Given the description of an element on the screen output the (x, y) to click on. 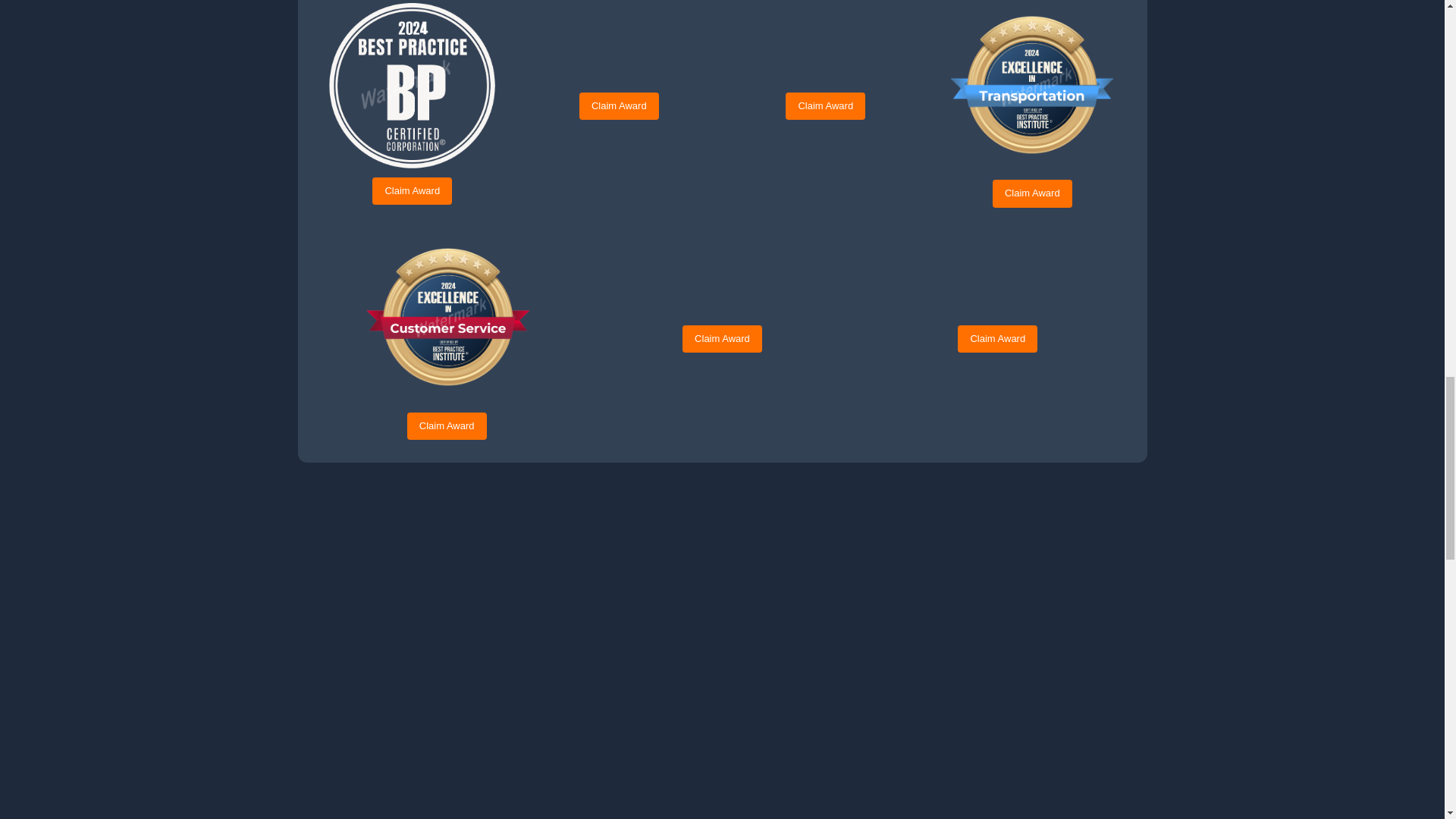
Claim Award (1031, 193)
Claim Award (825, 105)
Claim Award (411, 190)
Claim Award (619, 105)
